Given the description of an element on the screen output the (x, y) to click on. 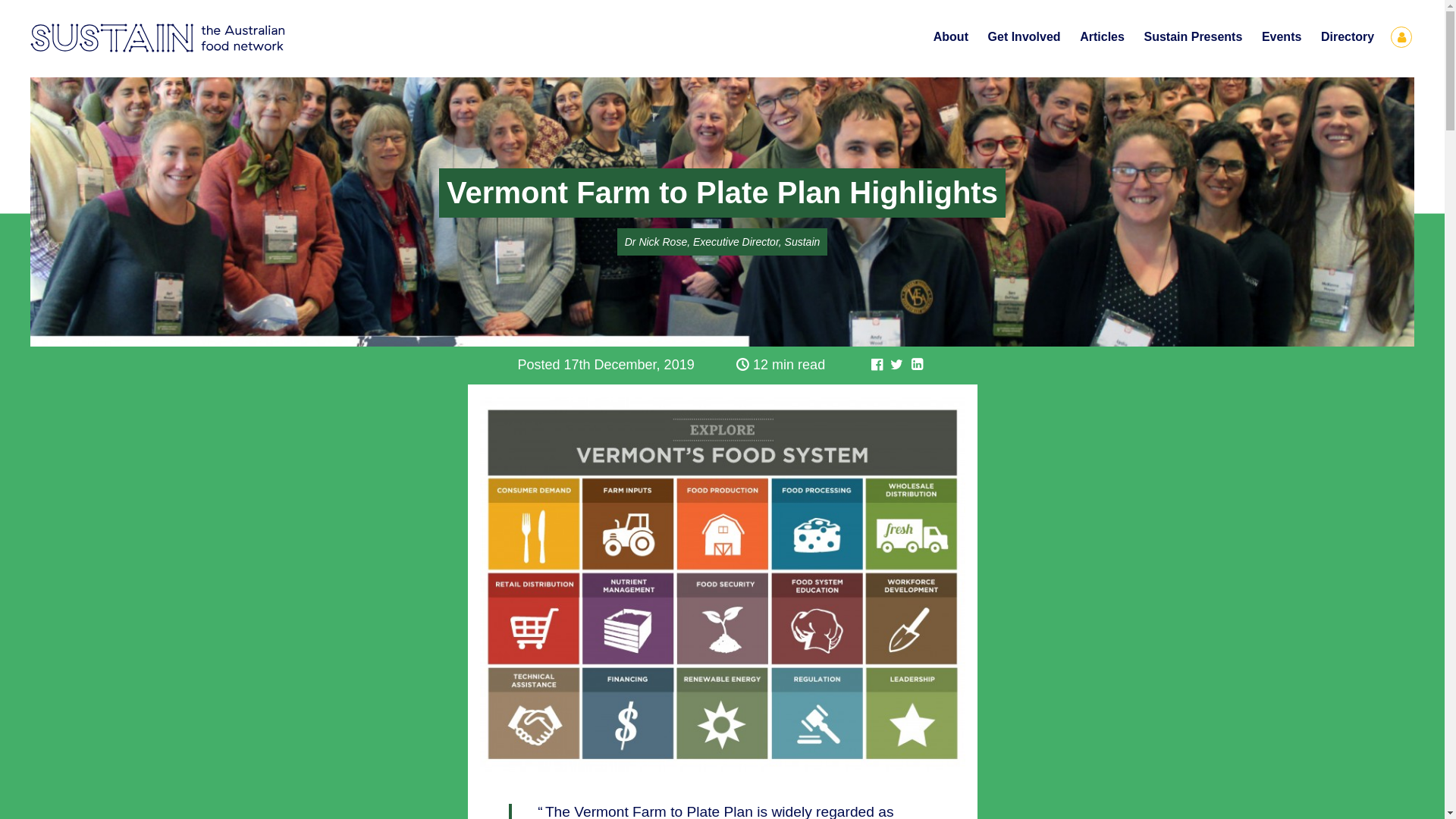
Dr Nick Rose, Executive Director, Sustain Element type: text (722, 241)
Sustain Element type: text (111, 37)
About Element type: text (950, 36)
Get Involved Element type: text (1024, 36)
Articles Element type: text (1101, 36)
Sustain Presents Element type: text (1193, 36)
The Australian Food Network Element type: text (242, 37)
Directory Element type: text (1347, 36)
Toggle User Menu Display Element type: text (1401, 36)
Events Element type: text (1281, 36)
